Given the description of an element on the screen output the (x, y) to click on. 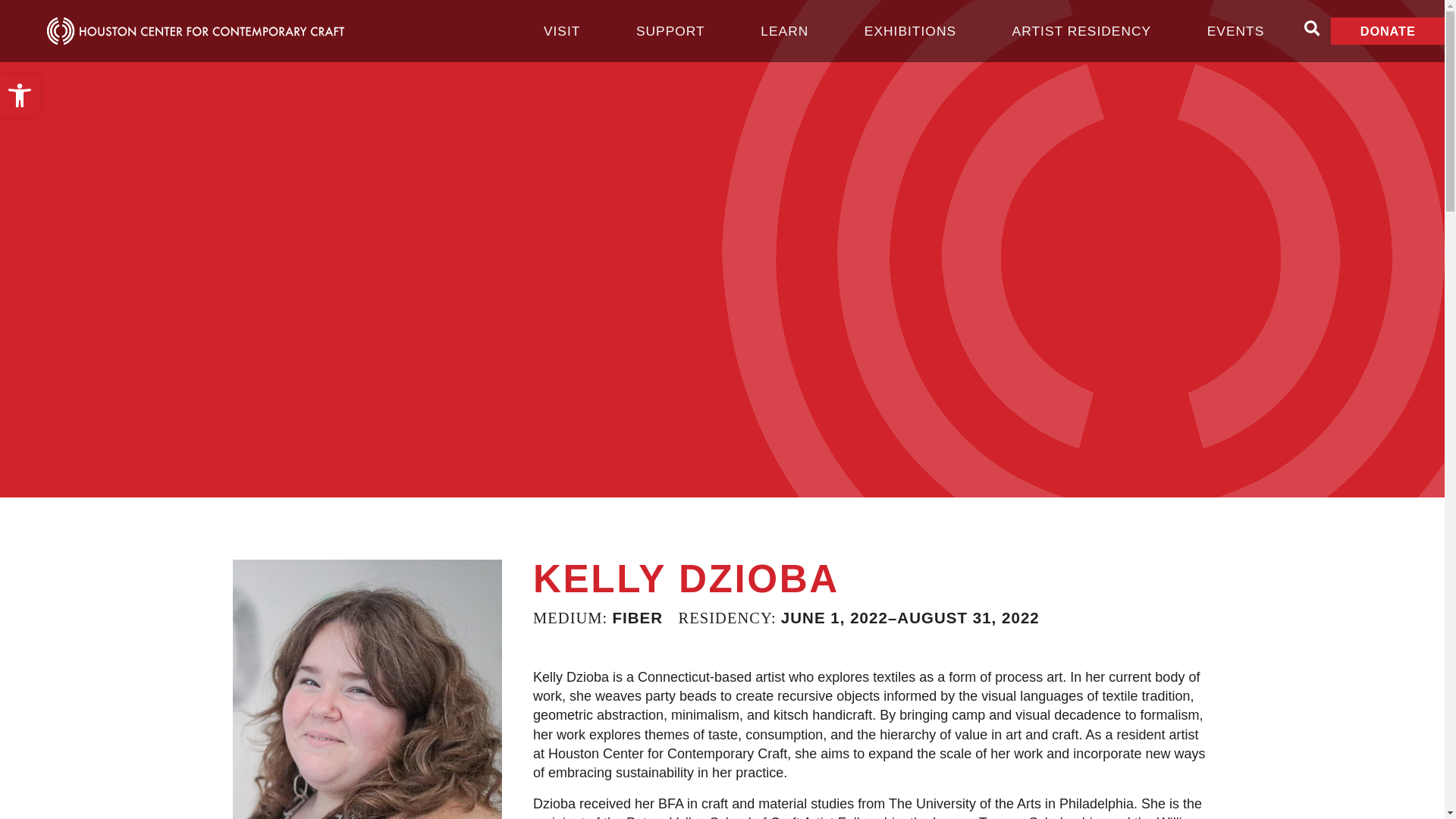
Accessibility Tools (19, 95)
ARTIST RESIDENCY (1081, 30)
LEARN (19, 95)
VISIT (783, 30)
Accessibility Tools (561, 30)
EXHIBITIONS (19, 95)
SUPPORT (909, 30)
